Given the description of an element on the screen output the (x, y) to click on. 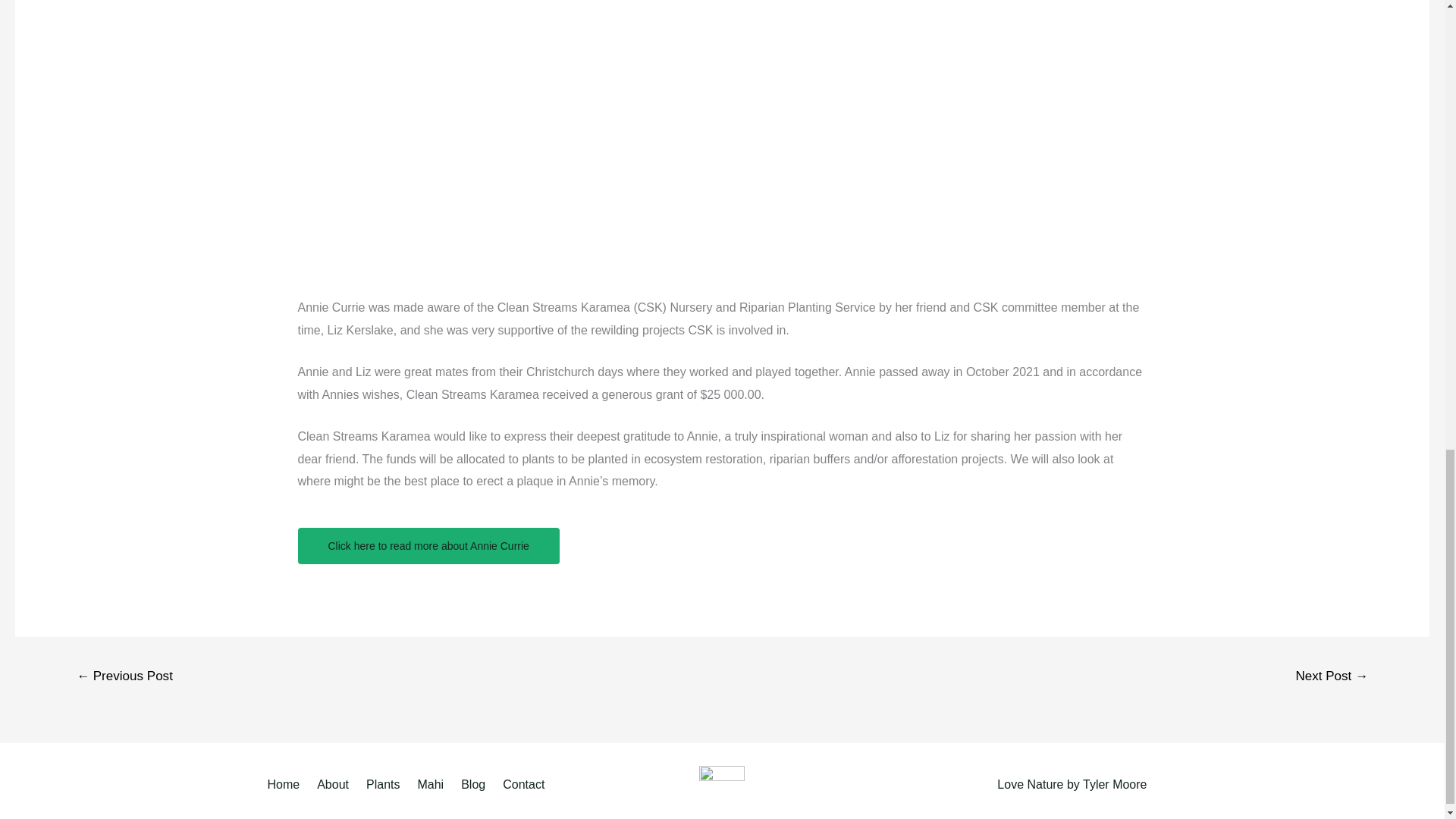
Click here to read more about Annie Currie (428, 545)
Blog (475, 784)
Mahi (432, 784)
Contact (526, 784)
Home (288, 784)
About (335, 784)
Plants (384, 784)
